Given the description of an element on the screen output the (x, y) to click on. 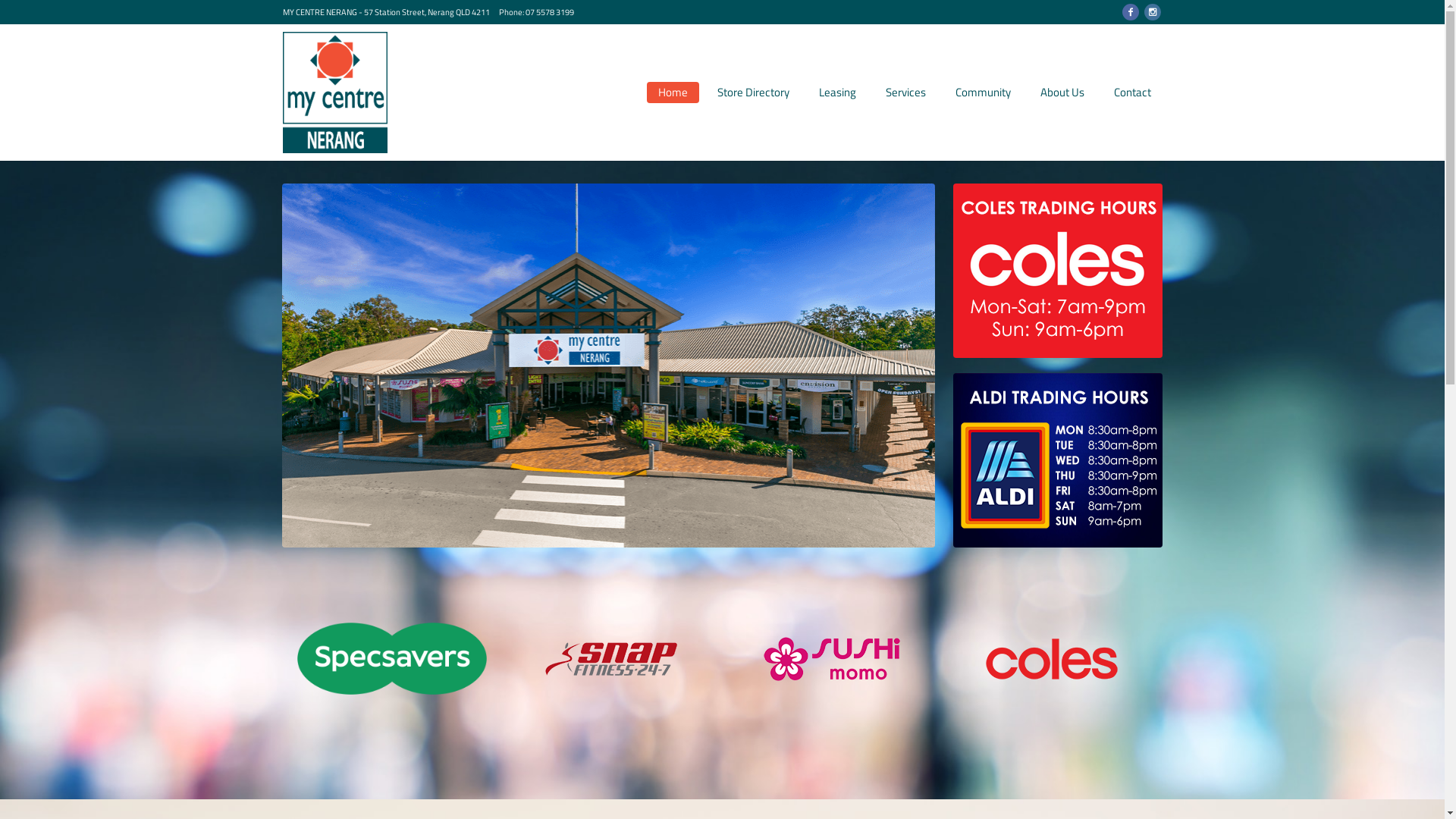
Contact Element type: text (1132, 92)
About Us Element type: text (1061, 92)
Leasing Element type: text (836, 92)
Instagram Element type: hover (1151, 11)
Store Directory Element type: text (752, 92)
Community Element type: text (982, 92)
Home Element type: text (672, 92)
Services Element type: text (904, 92)
Facebook Element type: hover (1130, 11)
